Given the description of an element on the screen output the (x, y) to click on. 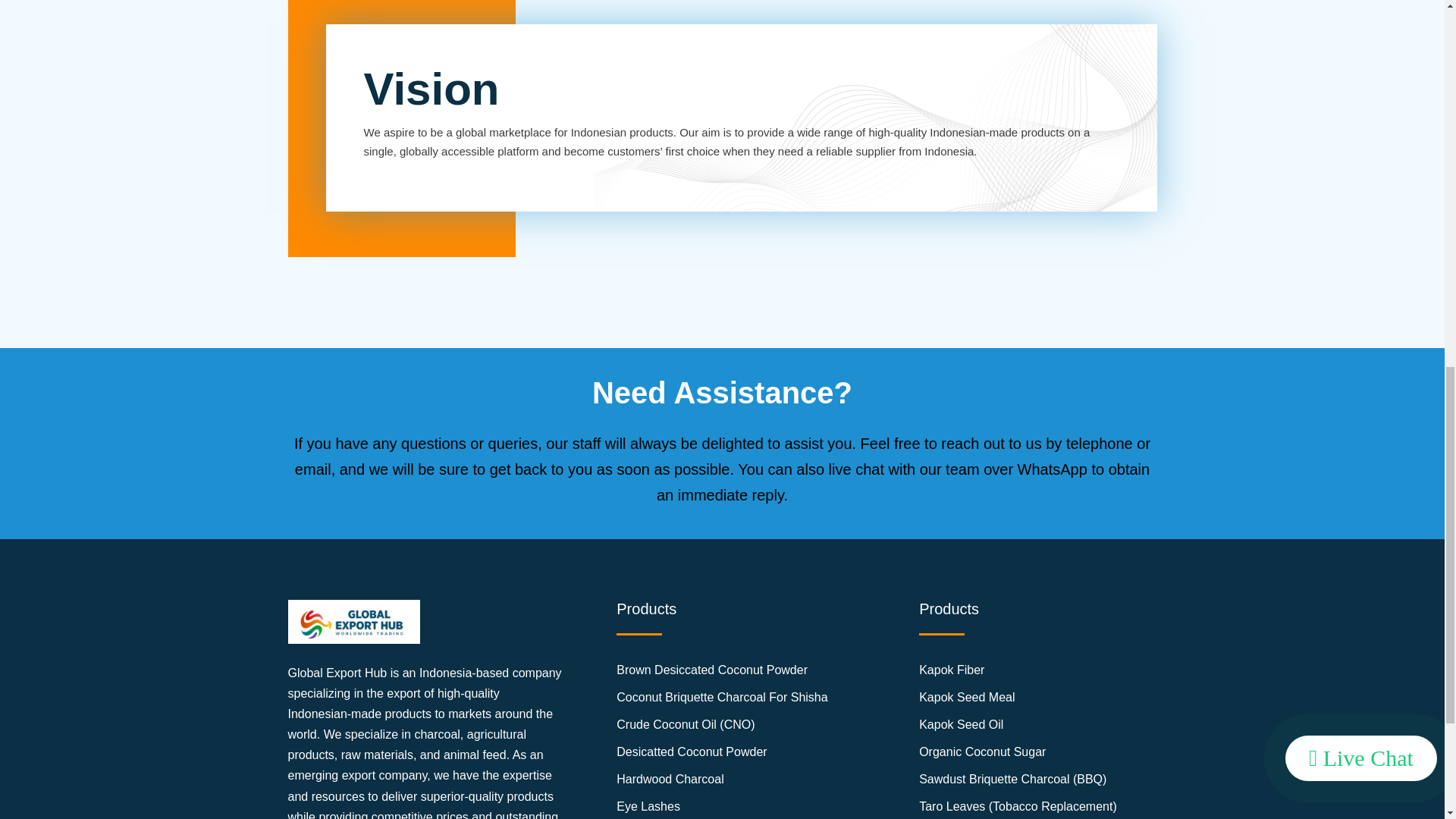
Hardwood Charcoal (721, 781)
Kapok Seed Meal (1017, 699)
Organic Coconut Sugar (1017, 753)
Coconut Briquette Charcoal For Shisha (721, 699)
Kapok Fiber (1017, 671)
Eye Lashes (721, 807)
Kapok Seed Oil (1017, 726)
Brown Desiccated Coconut Powder (721, 671)
Desicatted Coconut Powder (721, 753)
